Given the description of an element on the screen output the (x, y) to click on. 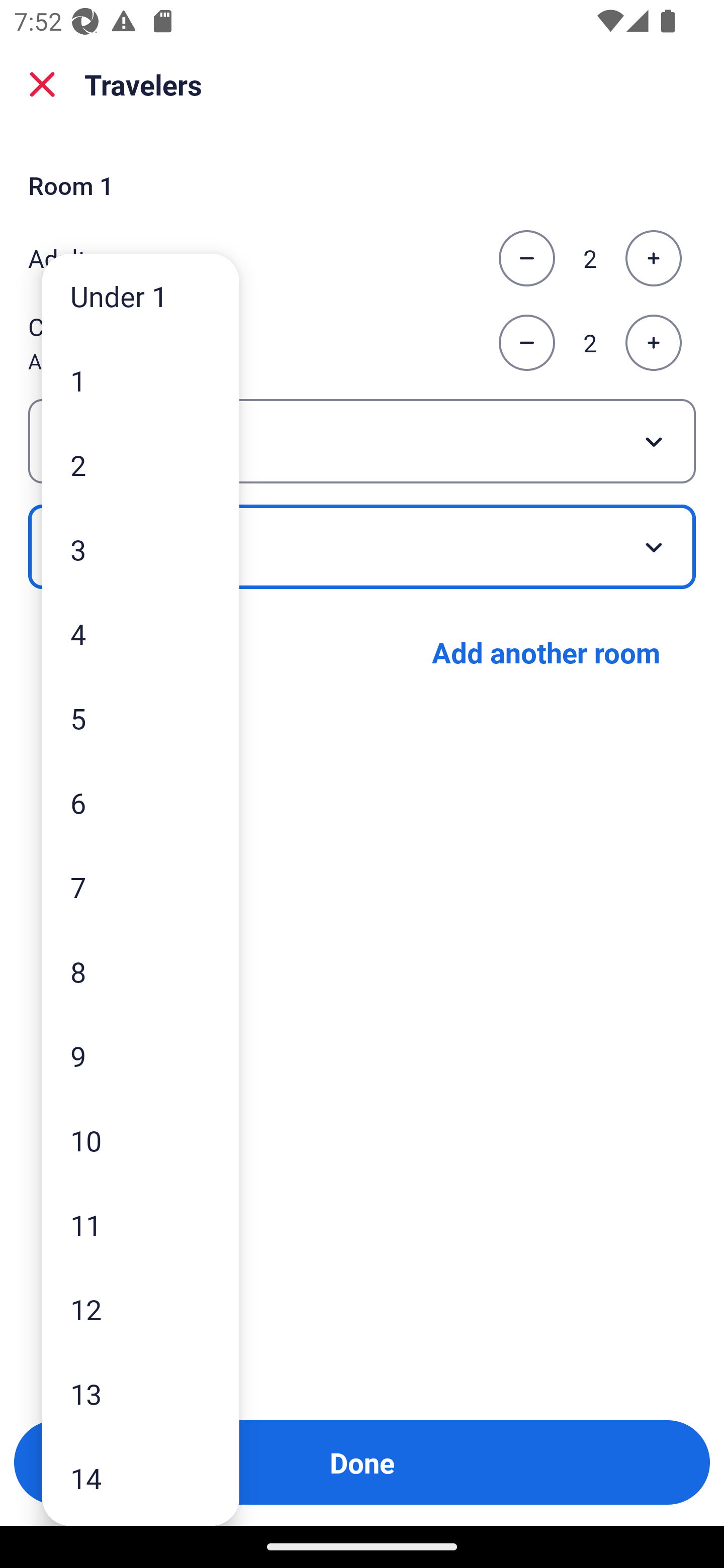
Under 1 (140, 296)
1 (140, 380)
2 (140, 464)
3 (140, 548)
4 (140, 633)
5 (140, 717)
6 (140, 802)
7 (140, 887)
8 (140, 970)
9 (140, 1054)
10 (140, 1139)
11 (140, 1224)
12 (140, 1308)
13 (140, 1393)
14 (140, 1478)
